Given the description of an element on the screen output the (x, y) to click on. 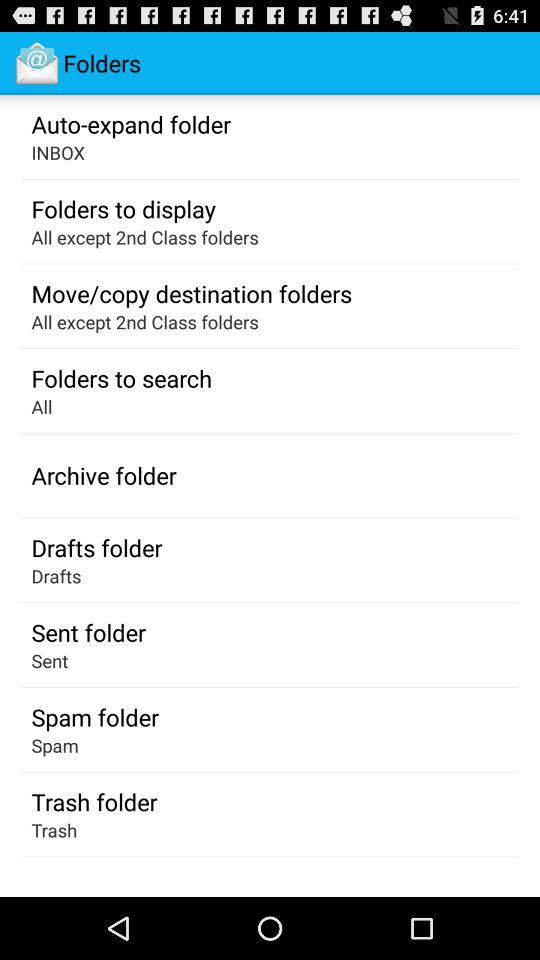
flip to the drafts folder item (96, 547)
